Given the description of an element on the screen output the (x, y) to click on. 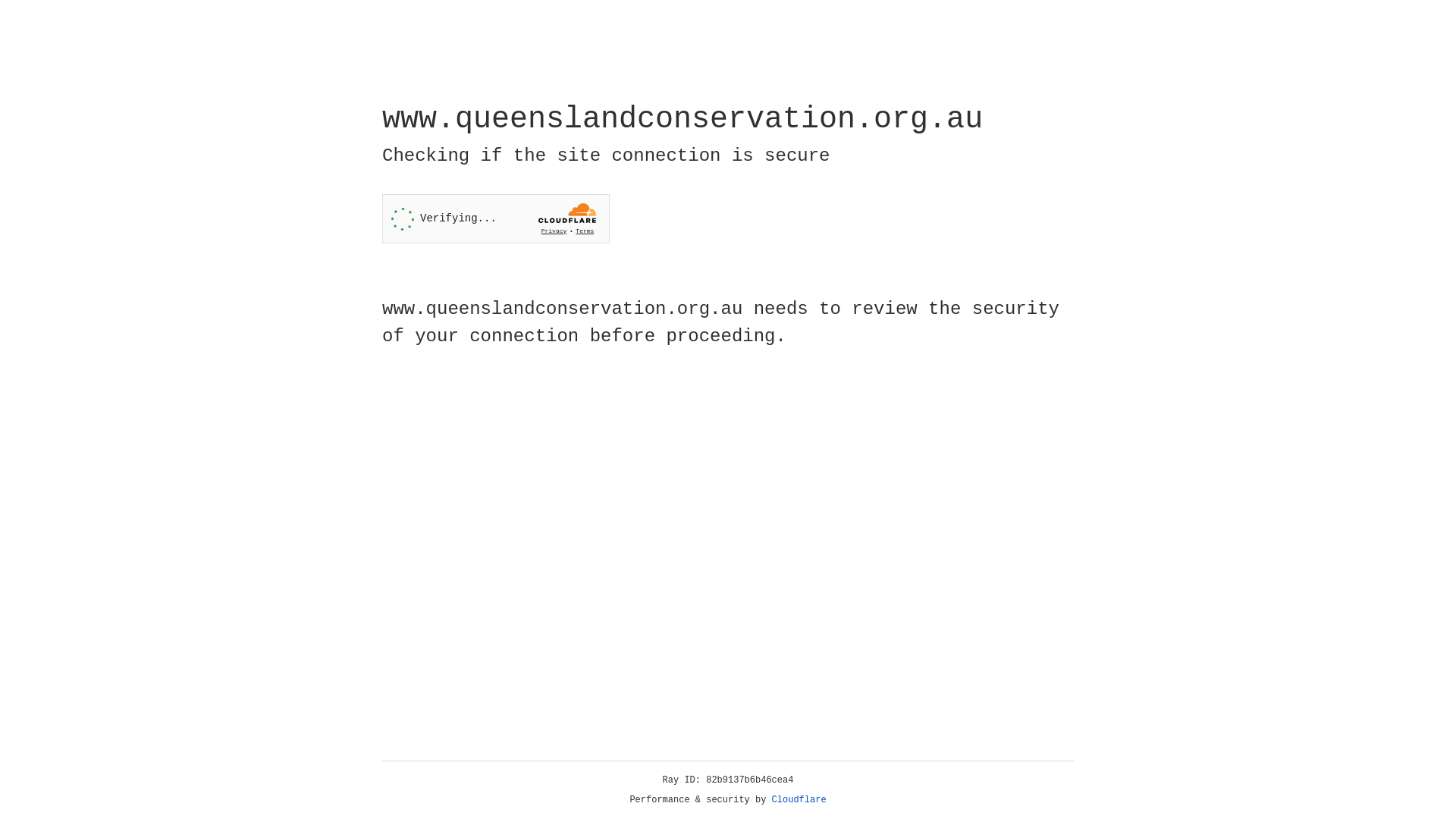
Cloudflare Element type: text (798, 799)
